Given the description of an element on the screen output the (x, y) to click on. 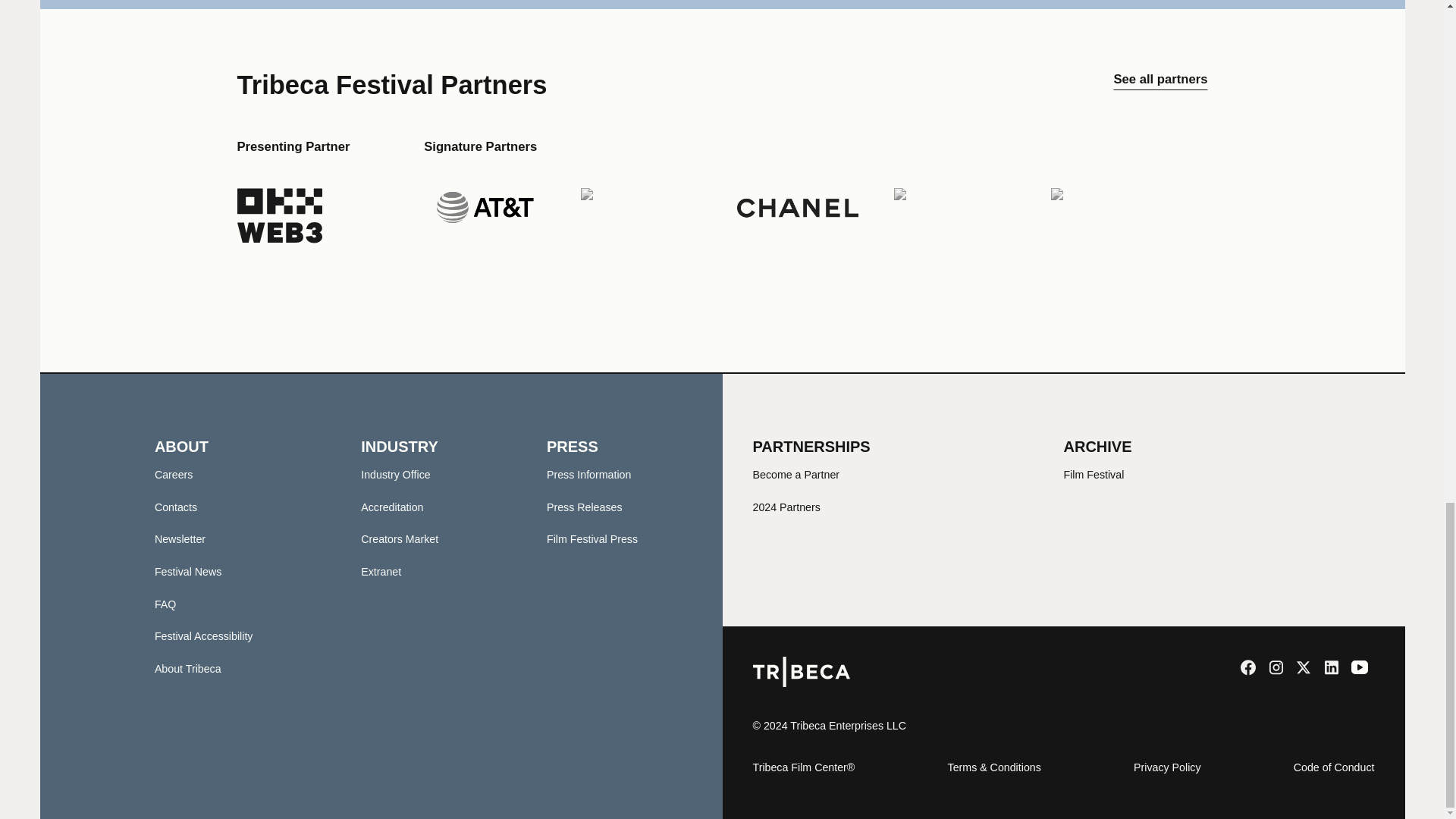
About Tribeca (187, 668)
Careers (173, 474)
See all partners (1160, 84)
Contacts (175, 507)
Newsletter (179, 539)
FAQ (165, 604)
Festival Accessibility (203, 635)
Accreditation (392, 507)
Industry Office (395, 474)
Festival News (188, 571)
